Given the description of an element on the screen output the (x, y) to click on. 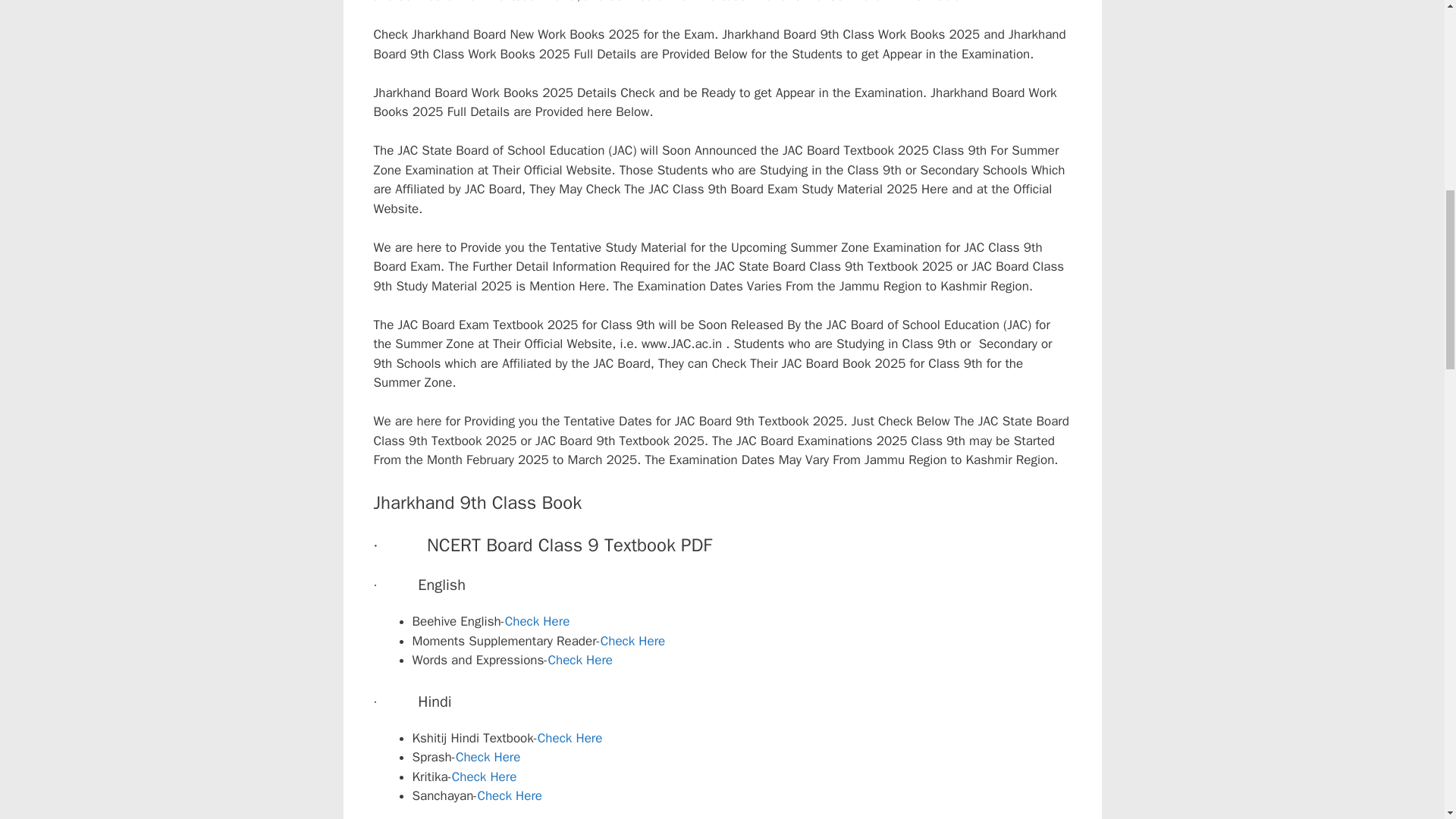
Check Here (632, 641)
Check Here (509, 795)
Check Here (579, 659)
Check Here (483, 776)
Check Here (488, 756)
Check Here (569, 738)
Check Here (537, 621)
